Given the description of an element on the screen output the (x, y) to click on. 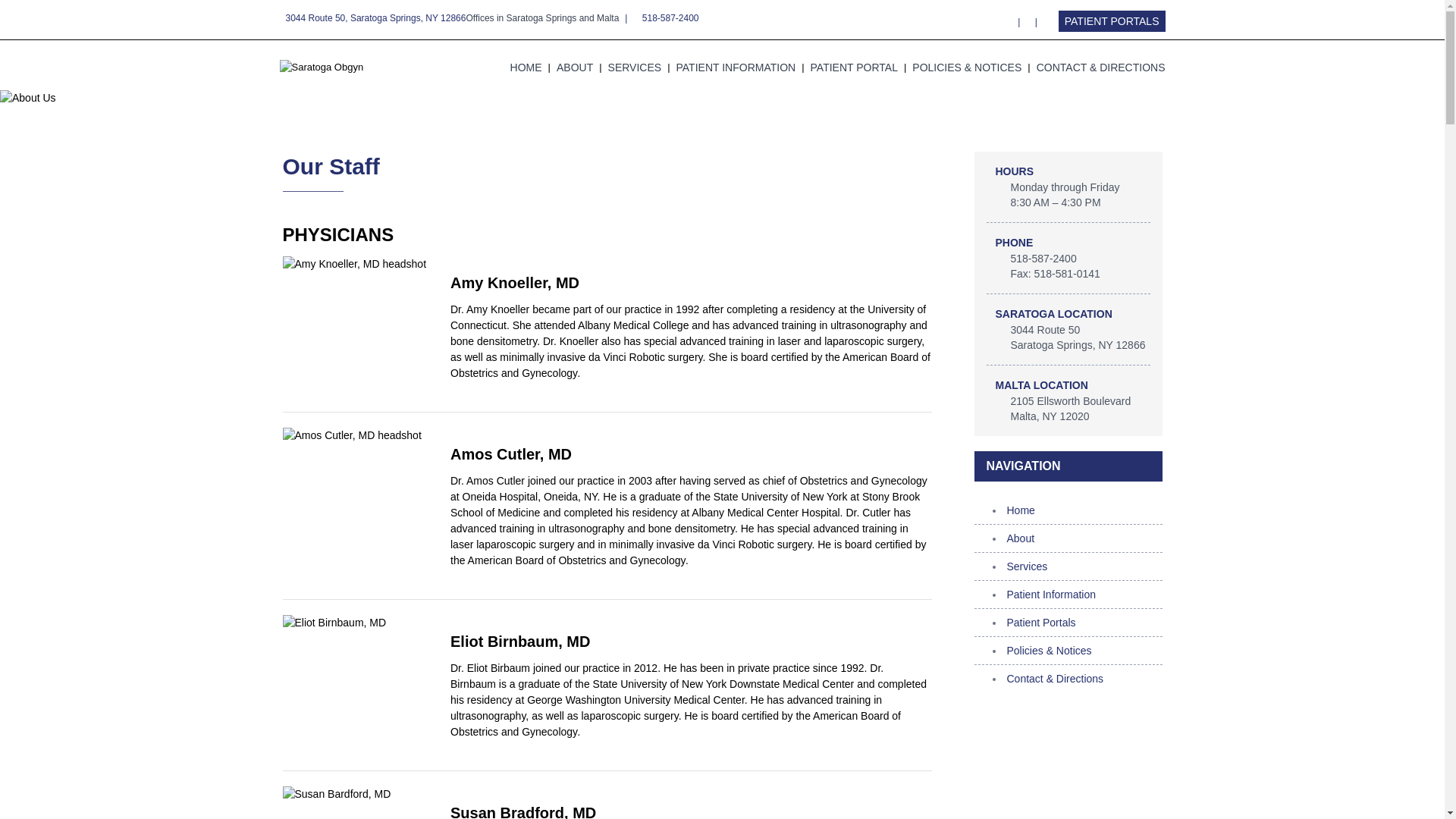
518-587-2400 (670, 18)
ABOUT (574, 67)
PATIENT PORTALS (1112, 20)
Offices in Saratoga Springs and Malta (541, 18)
Saratoga Obgyn (320, 67)
HOME (526, 67)
Saratoga Obgyn (320, 67)
